Given the description of an element on the screen output the (x, y) to click on. 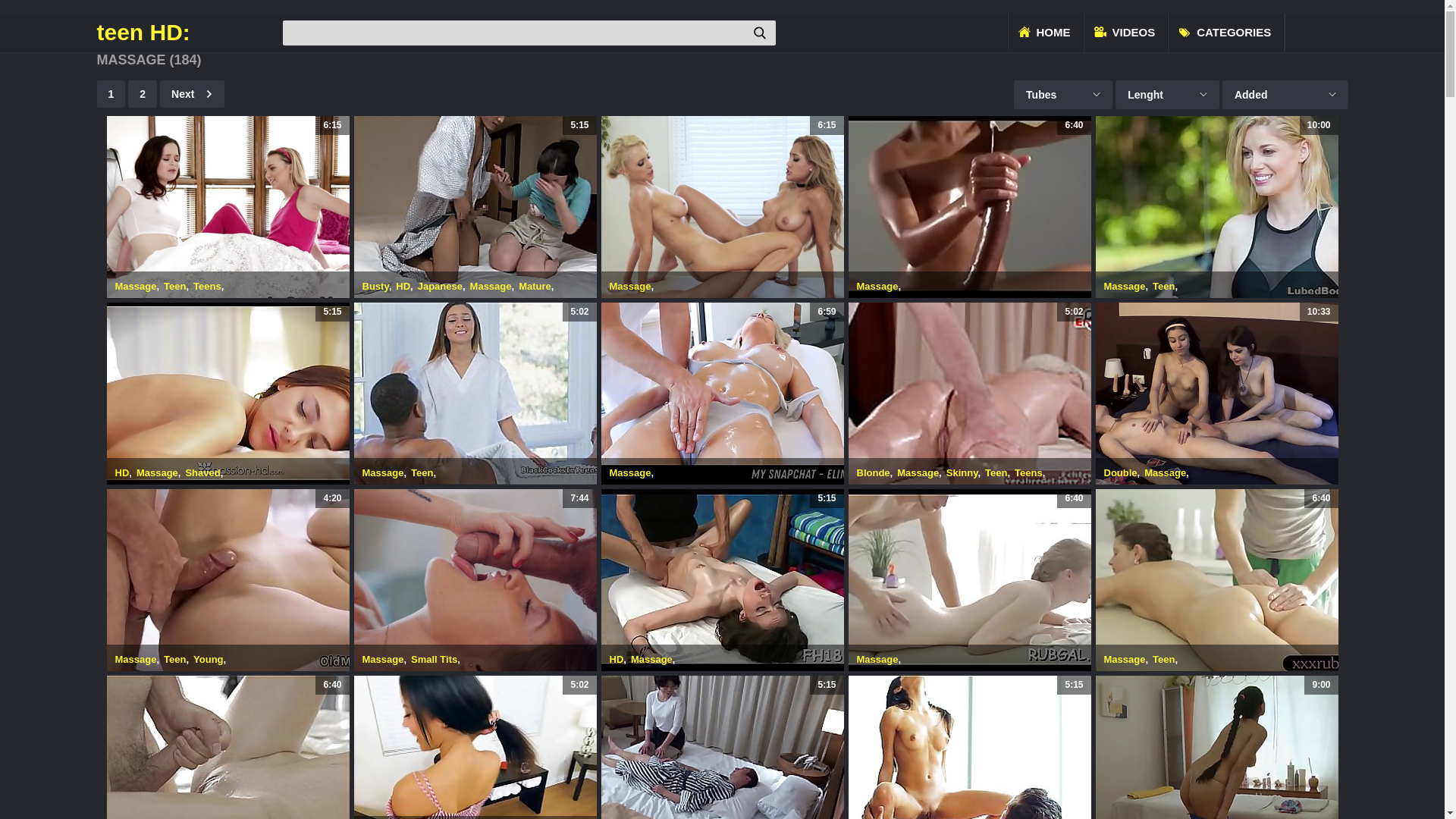
Massage Element type: text (157, 472)
Massage Element type: text (135, 659)
CATEGORIES Element type: text (1225, 32)
Massage Element type: text (651, 659)
5:15 Element type: text (474, 207)
HD Element type: text (616, 659)
Next Element type: text (192, 93)
Japanese Element type: text (439, 285)
6:15 Element type: text (721, 207)
7:44 Element type: text (474, 580)
Teen Element type: text (1163, 285)
Massage Element type: text (383, 659)
teen HD: Element type: text (188, 32)
2 Element type: text (142, 93)
Skinny Element type: text (962, 472)
5:02 Element type: text (474, 393)
5:15 Element type: text (721, 580)
Teen Element type: text (174, 285)
Massage Element type: text (1165, 472)
Teen Element type: text (1163, 659)
4:20 Element type: text (227, 580)
6:59 Element type: text (721, 393)
Teens Element type: text (207, 285)
HD Element type: text (122, 472)
6:40 Element type: text (1216, 580)
Busty Element type: text (375, 285)
Massage Element type: text (630, 472)
Massage Element type: text (877, 659)
10:33 Element type: text (1216, 393)
Teen Element type: text (996, 472)
Massage Element type: text (1124, 659)
Teen Element type: text (422, 472)
6:40 Element type: text (968, 580)
HD Element type: text (402, 285)
1 Element type: text (111, 93)
Young Element type: text (207, 659)
5:15 Element type: text (227, 393)
Teens Element type: text (1028, 472)
Massage Element type: text (1124, 285)
10:00 Element type: text (1216, 207)
Massage Element type: text (135, 285)
Double Element type: text (1120, 472)
Massage Element type: text (877, 285)
5:02 Element type: text (968, 393)
Massage Element type: text (383, 472)
6:15 Element type: text (227, 207)
Blonde Element type: text (873, 472)
Small Tits Element type: text (434, 659)
VIDEOS Element type: text (1126, 32)
Shaved Element type: text (202, 472)
HOME Element type: text (1044, 32)
Massage Element type: text (490, 285)
Mature Element type: text (534, 285)
6:40 Element type: text (968, 207)
Massage Element type: text (917, 472)
Massage Element type: text (630, 285)
Teen Element type: text (174, 659)
